Given the description of an element on the screen output the (x, y) to click on. 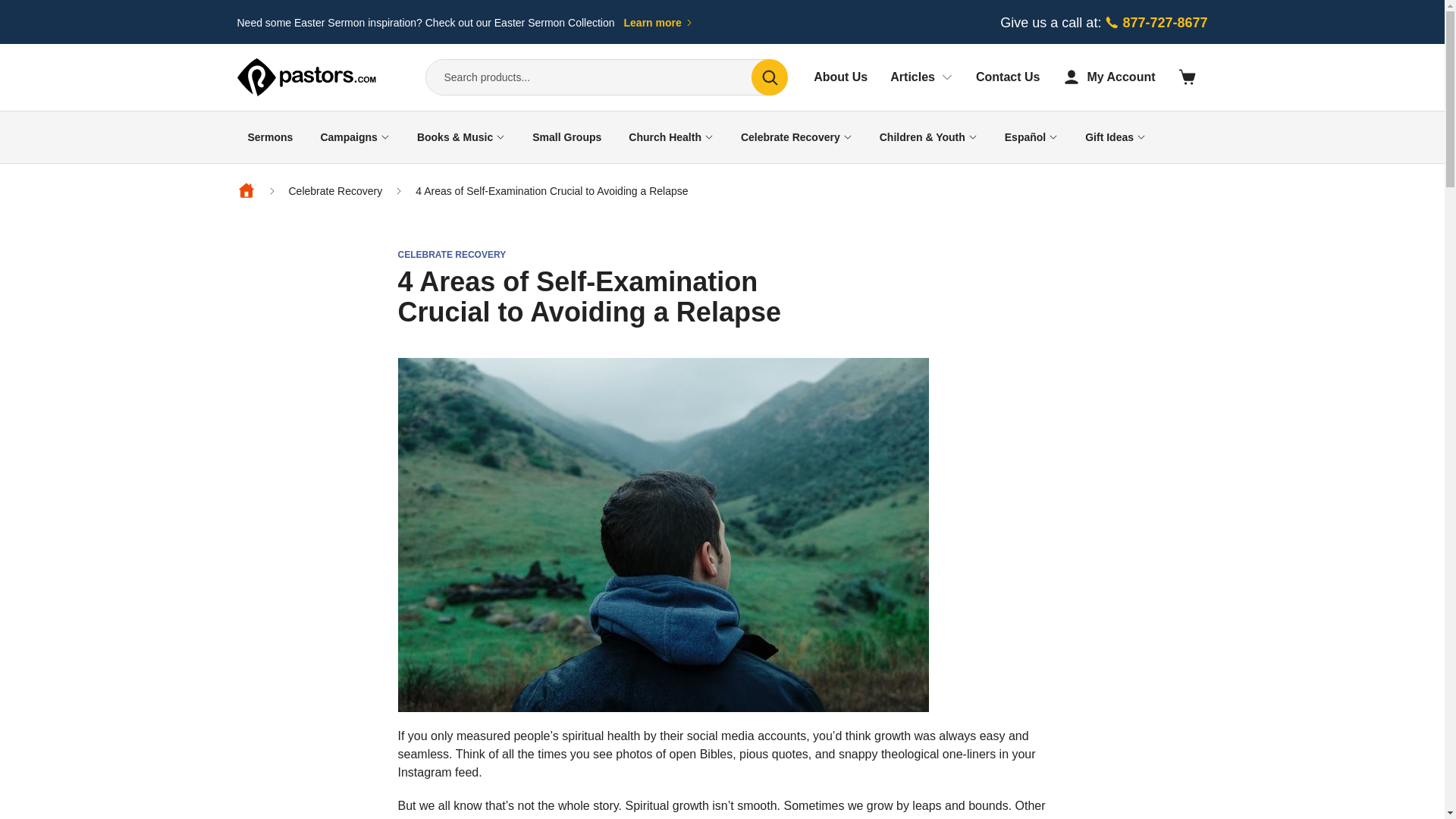
Learn more (659, 22)
877-727-8677 (1155, 22)
